Given the description of an element on the screen output the (x, y) to click on. 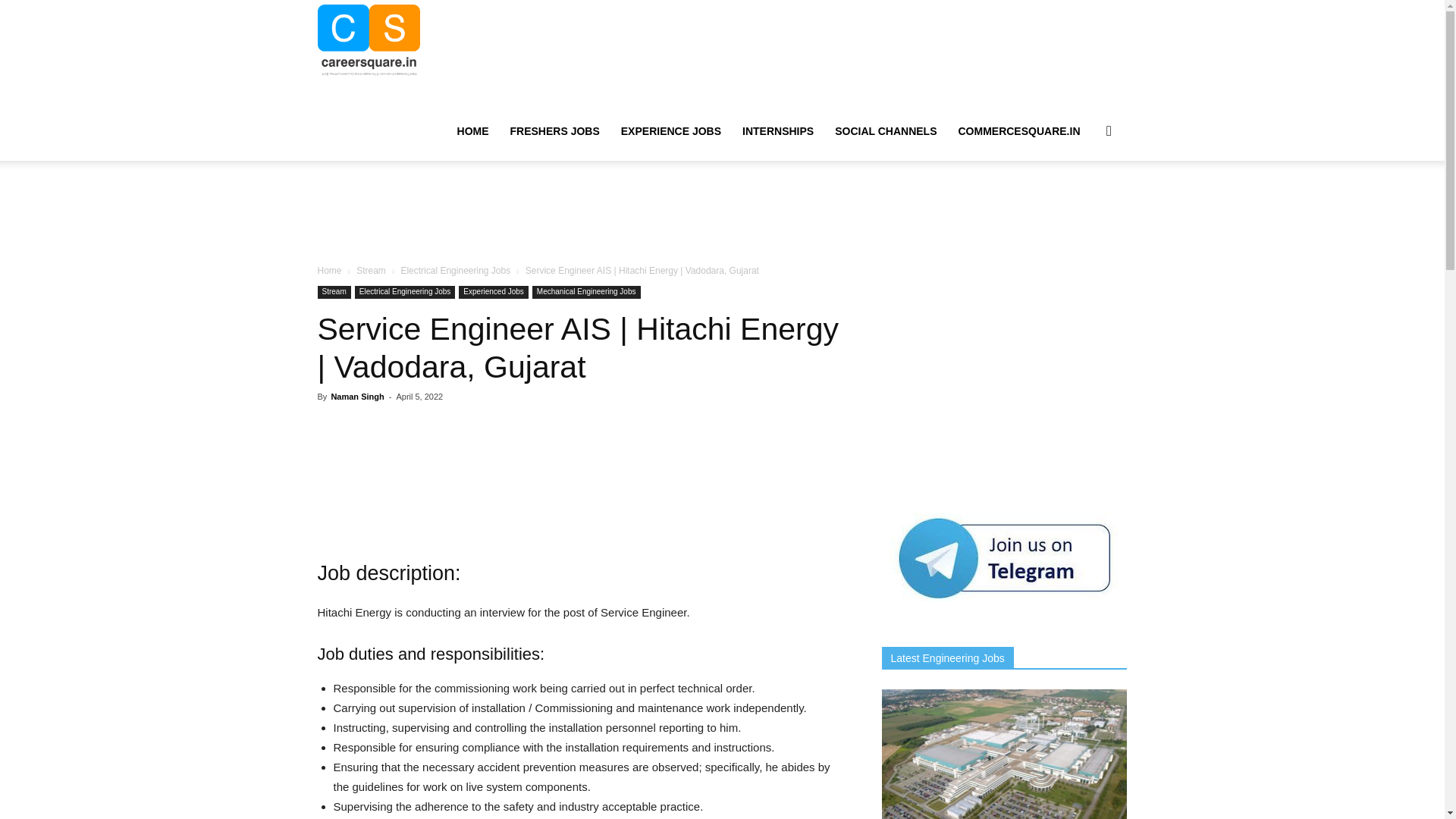
Mechanical Engineering Jobs (586, 291)
COMMERCESQUARE.IN (1018, 130)
FRESHERS JOBS (554, 130)
Electrical Engineering Jobs (405, 291)
Experienced Jobs (493, 291)
Advertisement (721, 213)
Career Square (368, 39)
Naman Singh (357, 396)
Stream (370, 270)
Home (328, 270)
